Given the description of an element on the screen output the (x, y) to click on. 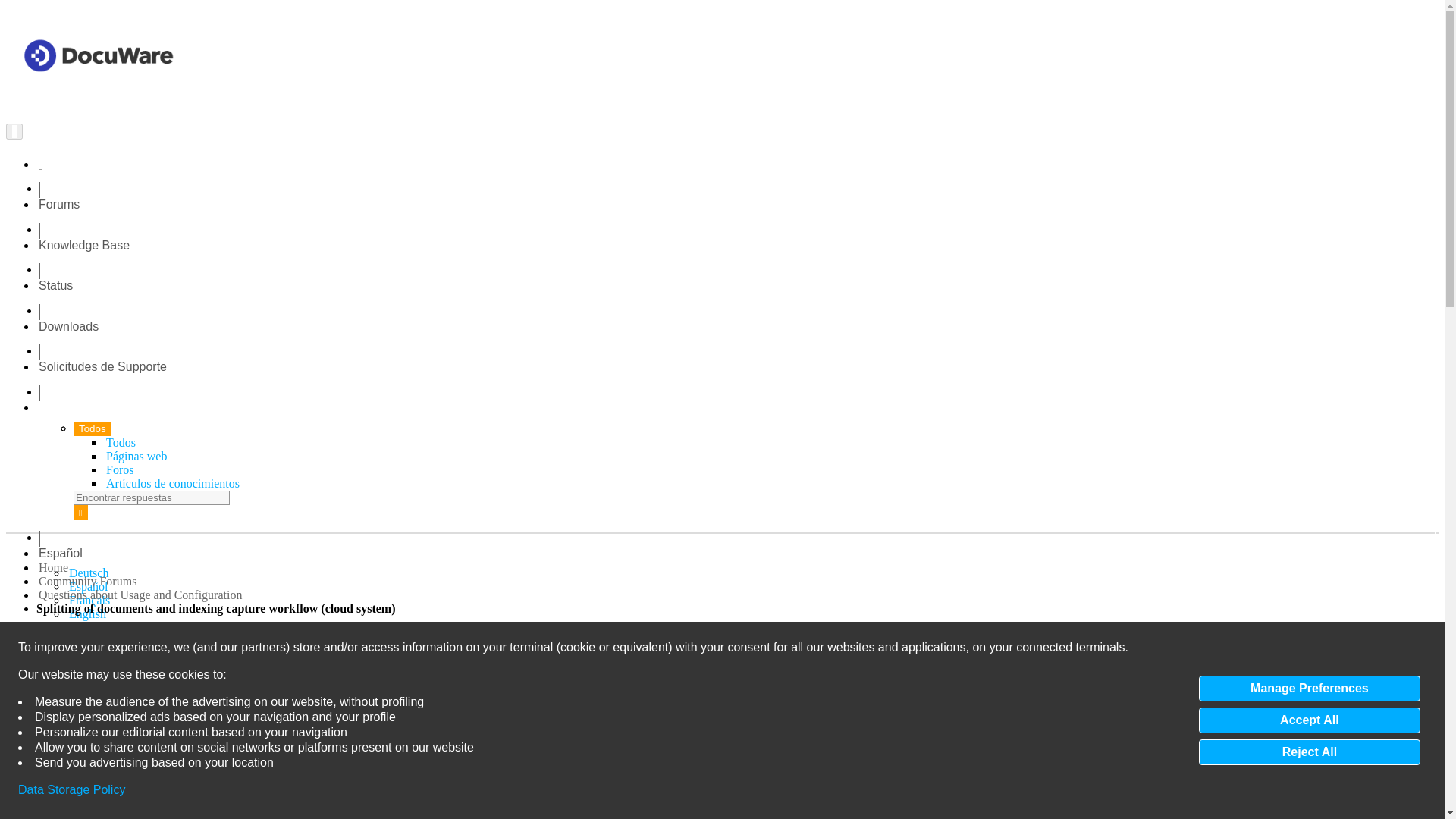
Status (55, 285)
Deutsch (87, 572)
Knowledge Base (84, 244)
Home (53, 567)
Encontrar respuestas (152, 496)
English (87, 613)
Downloads (69, 326)
English (87, 613)
Solicitudes de Supporte (103, 366)
Status (55, 285)
